Given the description of an element on the screen output the (x, y) to click on. 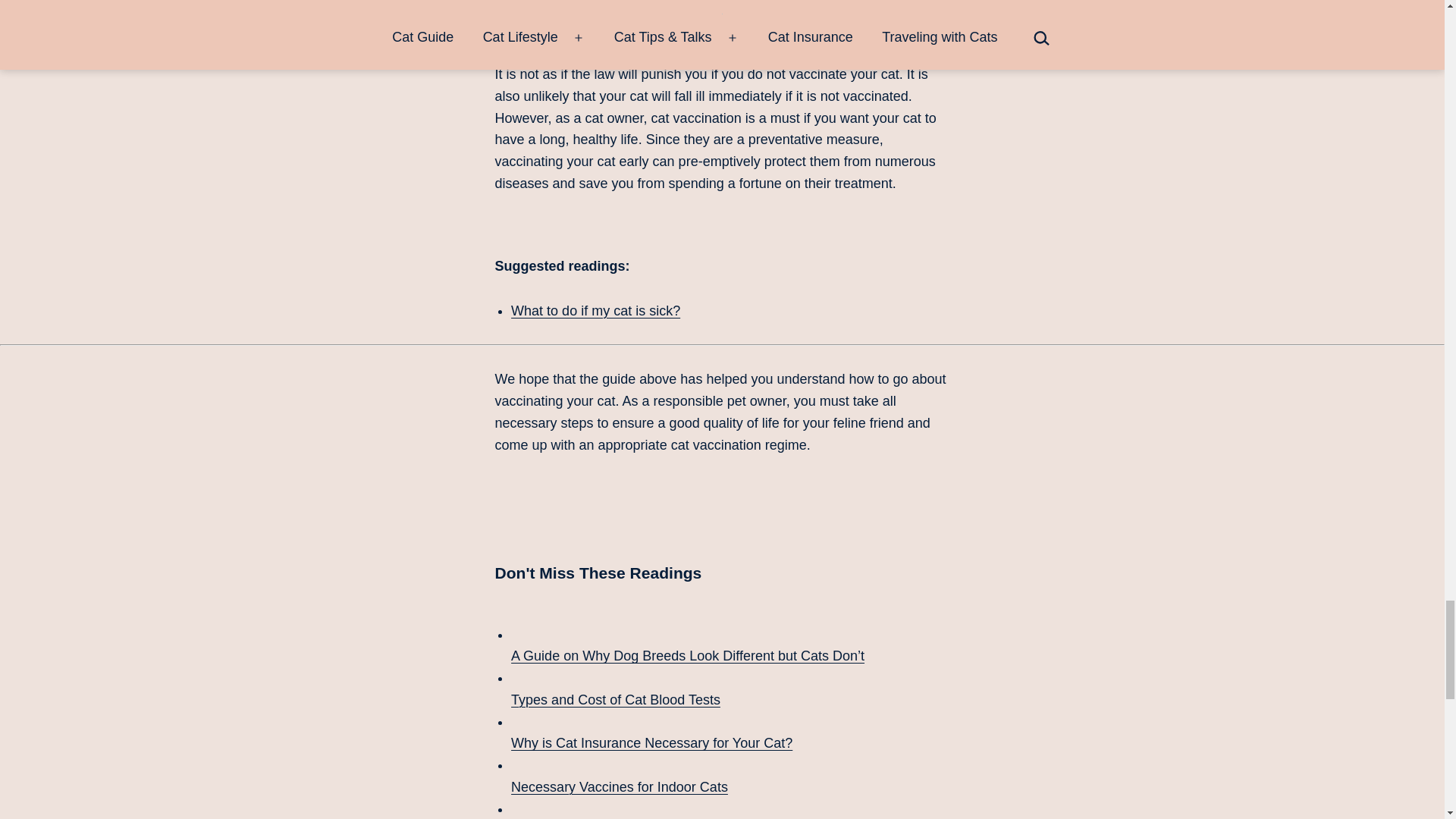
Different Ways for Your Cat Exercise (730, 808)
Necessary Vaccines for Indoor Cats (730, 774)
Why is Cat Insurance Necessary for Your Cat? (730, 731)
What to do if my cat is sick? (595, 310)
Types and Cost of Cat Blood Tests (730, 687)
